Given the description of an element on the screen output the (x, y) to click on. 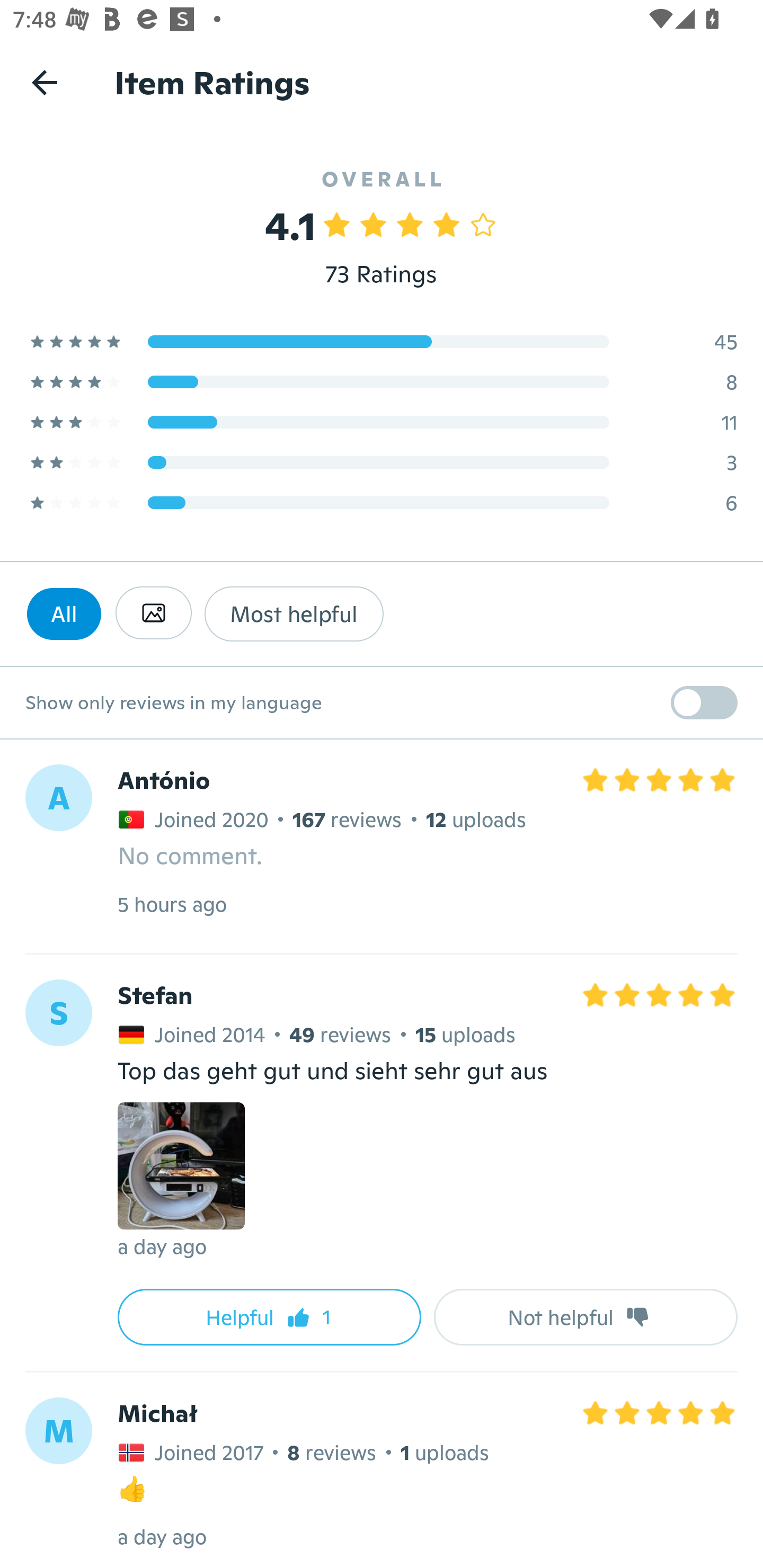
Navigate up (44, 82)
5 Star Rating 45 (381, 341)
4 Star Rating 8 (381, 381)
3 Star Rating 11 (381, 421)
2 Star Rating 3 (381, 462)
1 Star Rating 6 (381, 502)
All (64, 613)
Has photo (153, 612)
Most helpful (293, 613)
Show only reviews in my language (381, 702)
A (58, 798)
António (163, 780)
5 hours ago (171, 903)
S (58, 1012)
Stefan (155, 995)
a day ago (162, 1246)
Helpful 1 (269, 1316)
Not helpful (585, 1316)
M (58, 1430)
Michał (157, 1412)
a day ago (162, 1536)
